Given the description of an element on the screen output the (x, y) to click on. 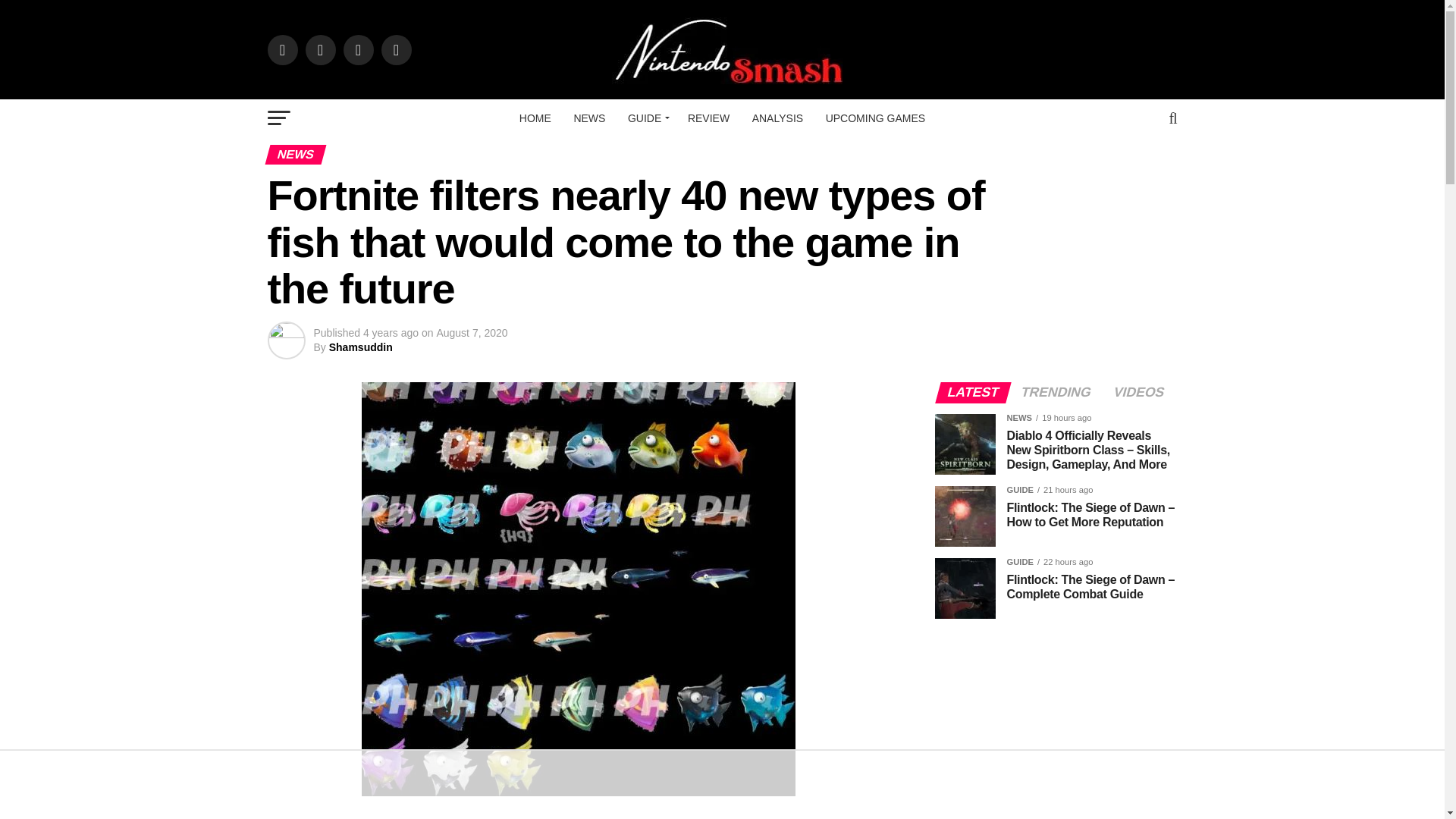
HOME (535, 118)
NEWS (589, 118)
Posts by Shamsuddin (361, 346)
GUIDE (646, 118)
